Given the description of an element on the screen output the (x, y) to click on. 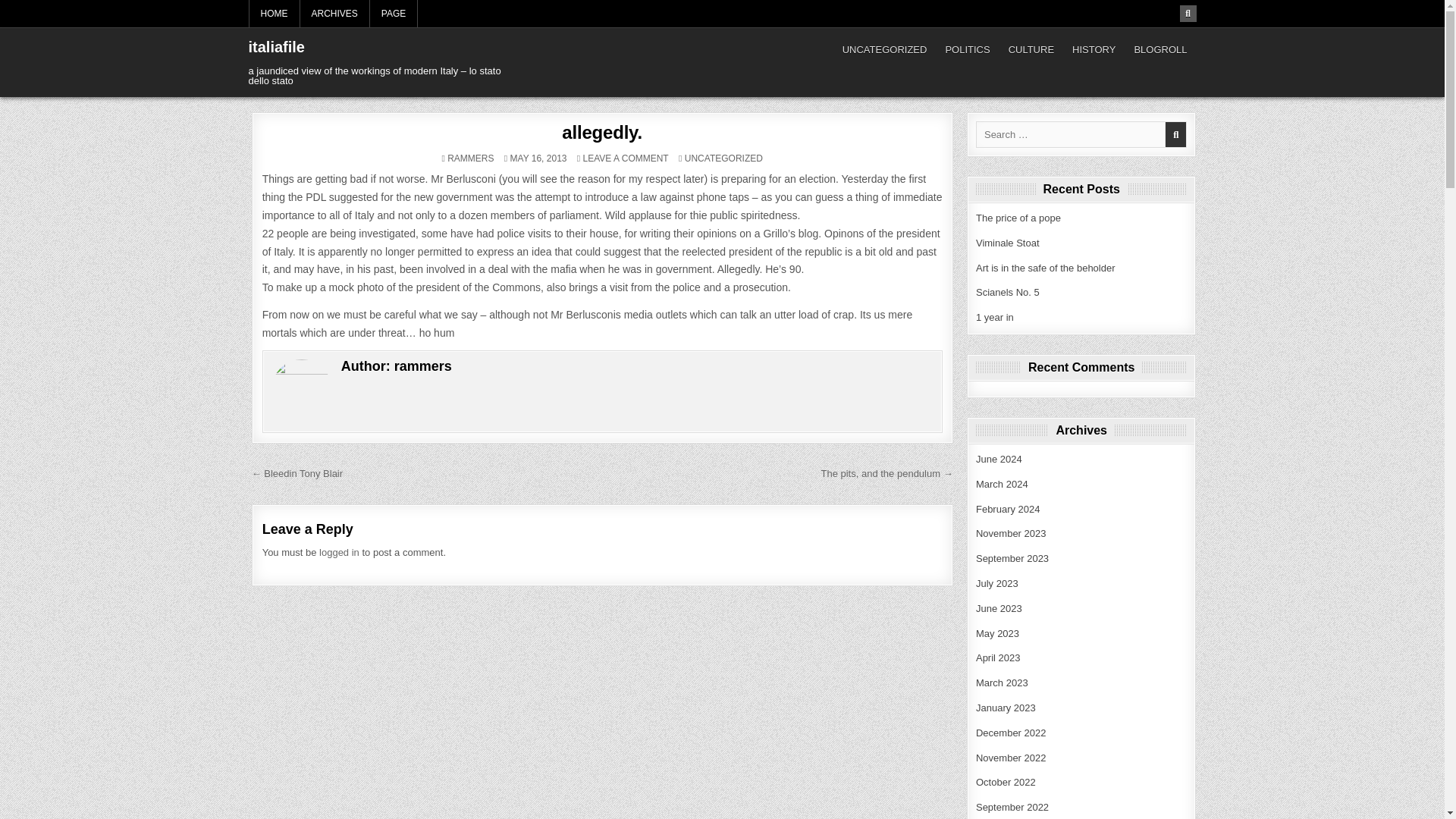
February 2024 (625, 157)
1 year in (1008, 509)
italiafile (994, 317)
May 2023 (276, 46)
June 2024 (997, 633)
June 2023 (998, 459)
March 2024 (998, 608)
UNCATEGORIZED (1001, 483)
September 2023 (884, 49)
Scianels No. 5 (1011, 558)
HISTORY (1007, 292)
July 2023 (1093, 49)
Art is in the safe of the beholder (996, 583)
CULTURE (1045, 267)
